Given the description of an element on the screen output the (x, y) to click on. 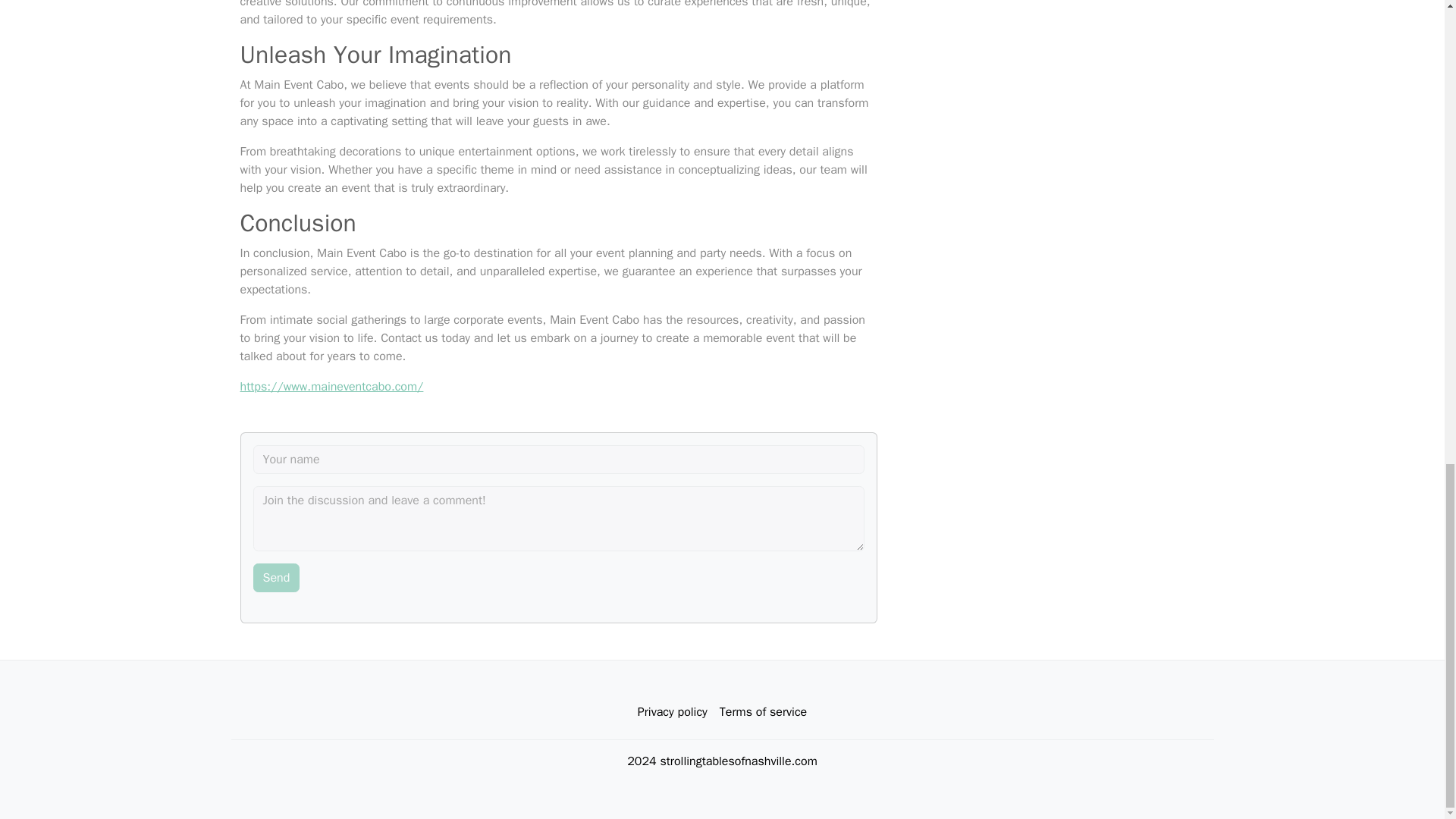
Privacy policy (672, 711)
Send (276, 577)
Send (276, 577)
Terms of service (762, 711)
